Given the description of an element on the screen output the (x, y) to click on. 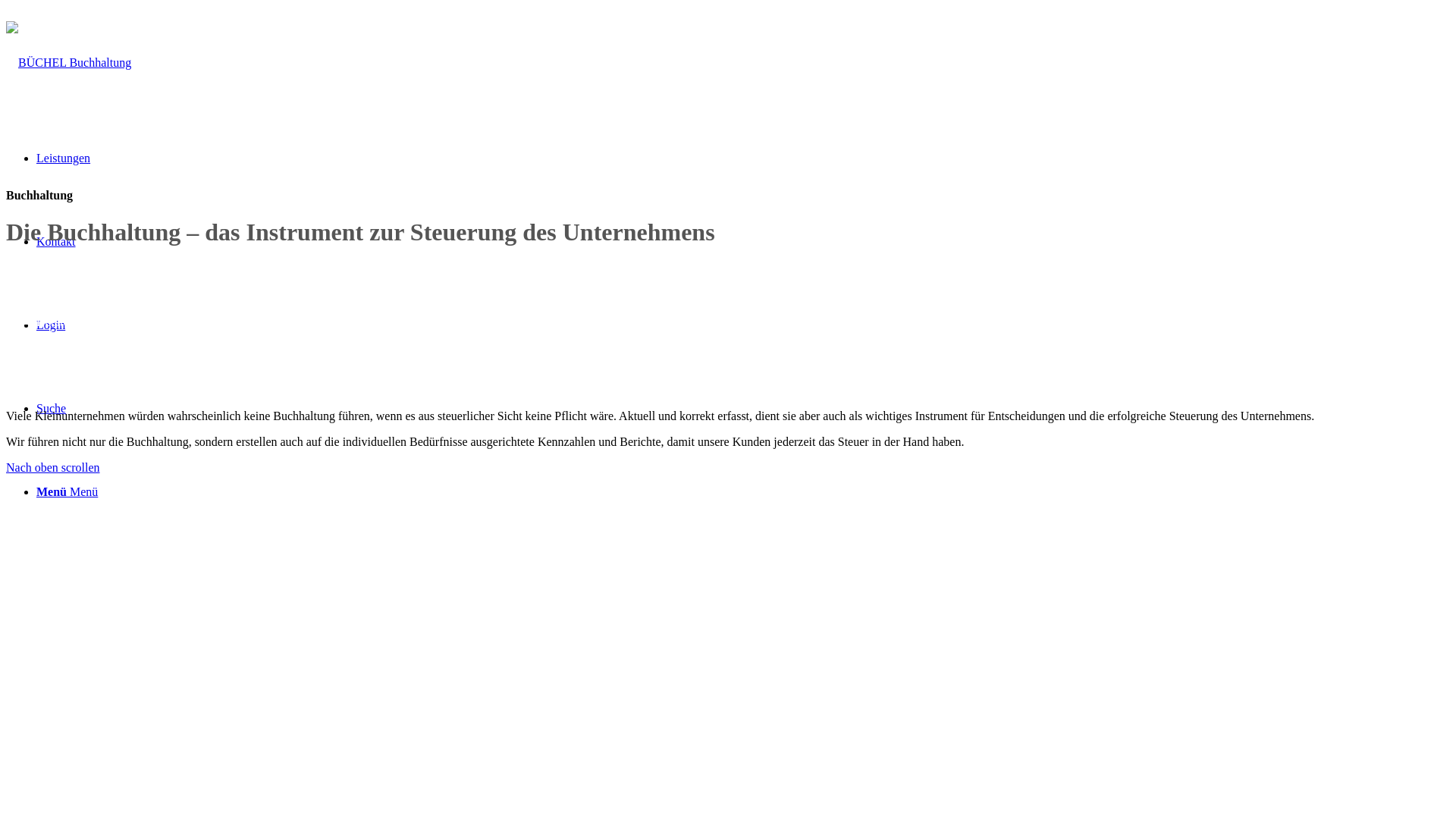
Nach oben scrollen Element type: text (53, 467)
Leistungen Element type: text (63, 157)
Suche Element type: text (50, 407)
Kontakt Element type: text (55, 241)
logo Element type: hover (68, 62)
Login Element type: text (50, 324)
